Given the description of an element on the screen output the (x, y) to click on. 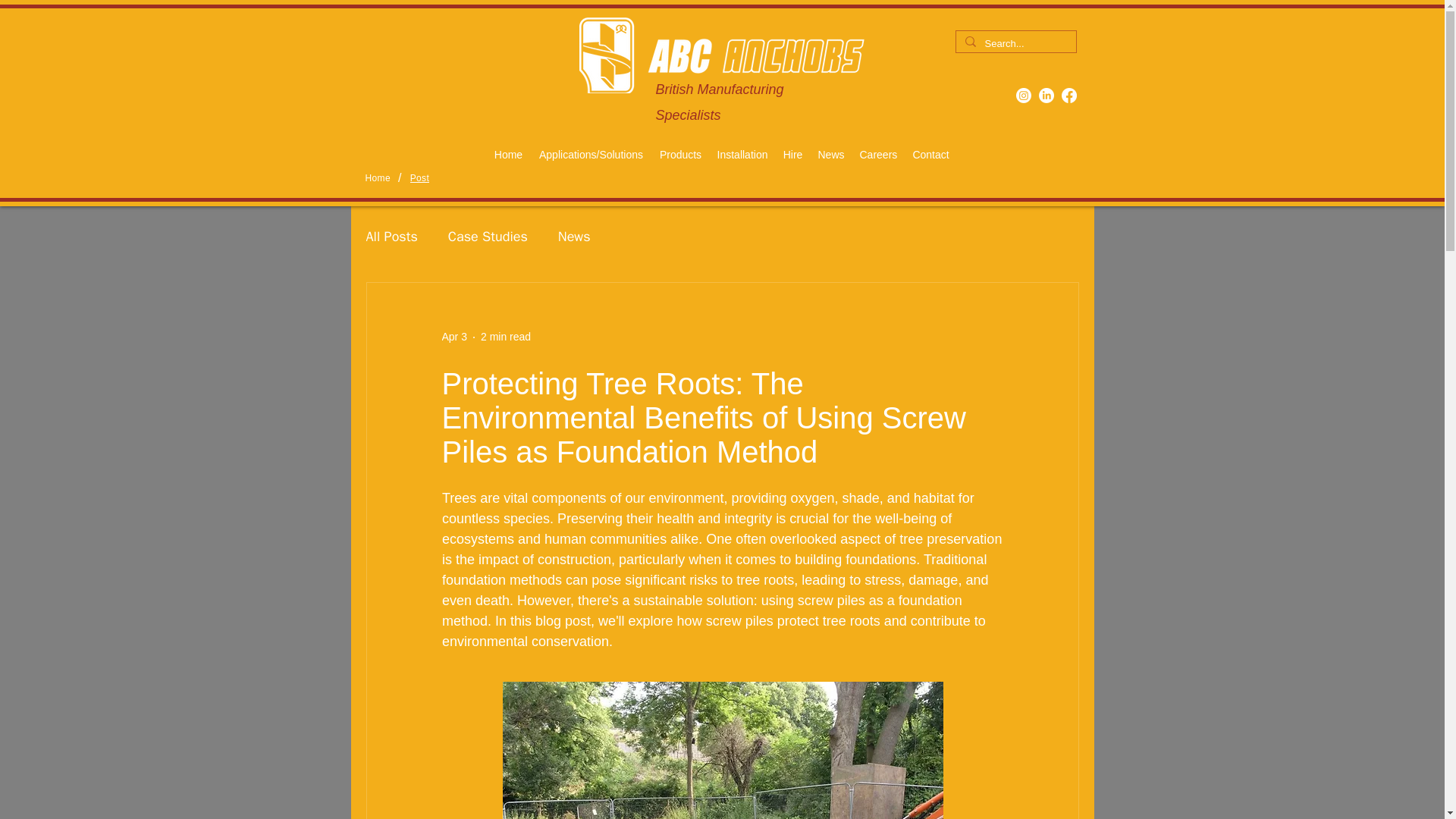
Careers (877, 154)
Home (508, 154)
Products (681, 154)
2 min read (505, 336)
Installation (743, 154)
Apr 3 (453, 336)
Contact (930, 154)
News (830, 154)
Home (377, 178)
All Posts (390, 236)
Case Studies (487, 236)
Post (419, 178)
News (574, 236)
Hire (791, 154)
